Given the description of an element on the screen output the (x, y) to click on. 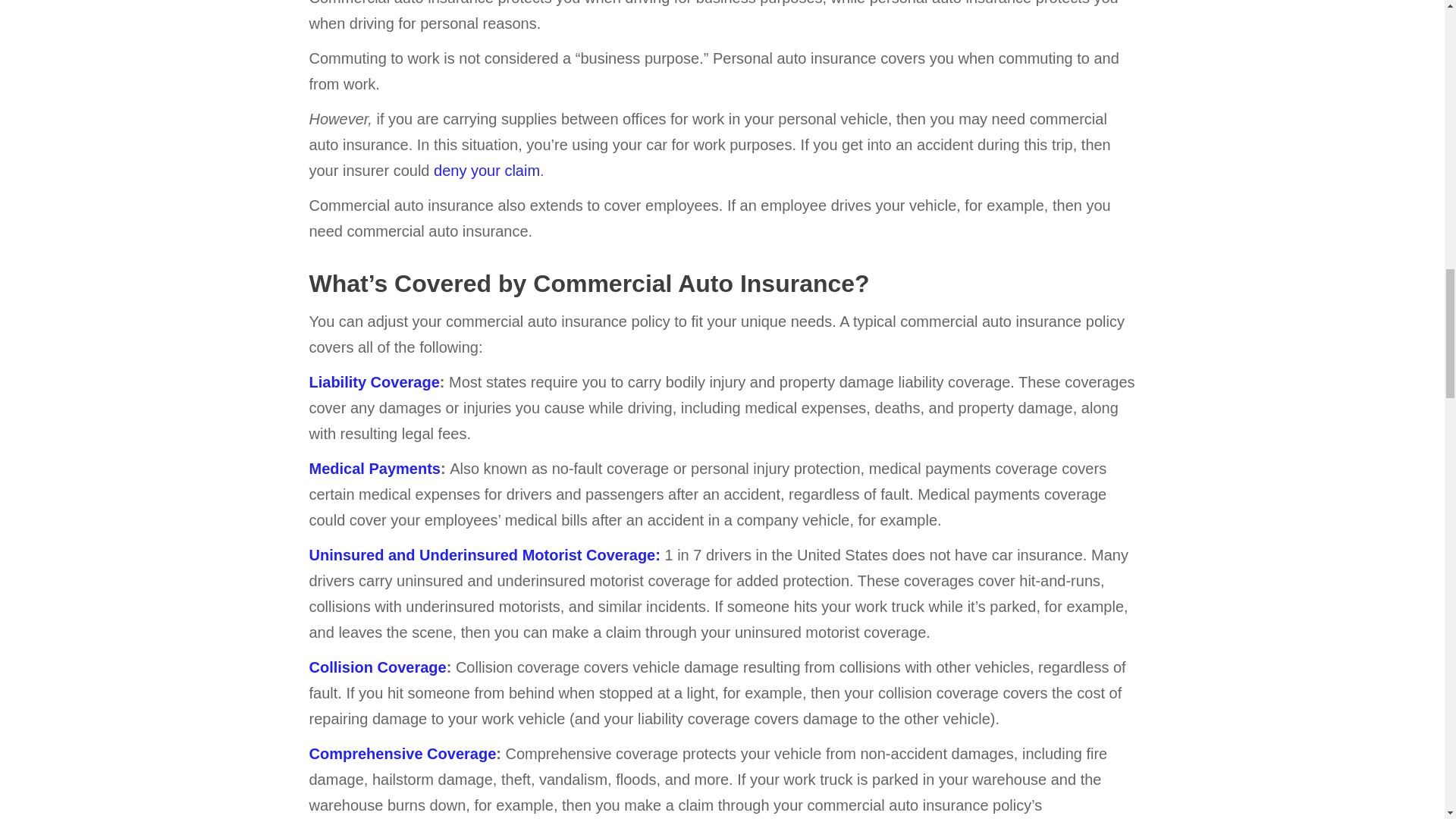
Collision Coverage (377, 667)
Uninsured and Underinsured Motorist Coverage: (484, 555)
Medical Payments (374, 468)
Liability Coverage (373, 381)
deny your claim (486, 170)
Comprehensive Coverage (402, 753)
